Given the description of an element on the screen output the (x, y) to click on. 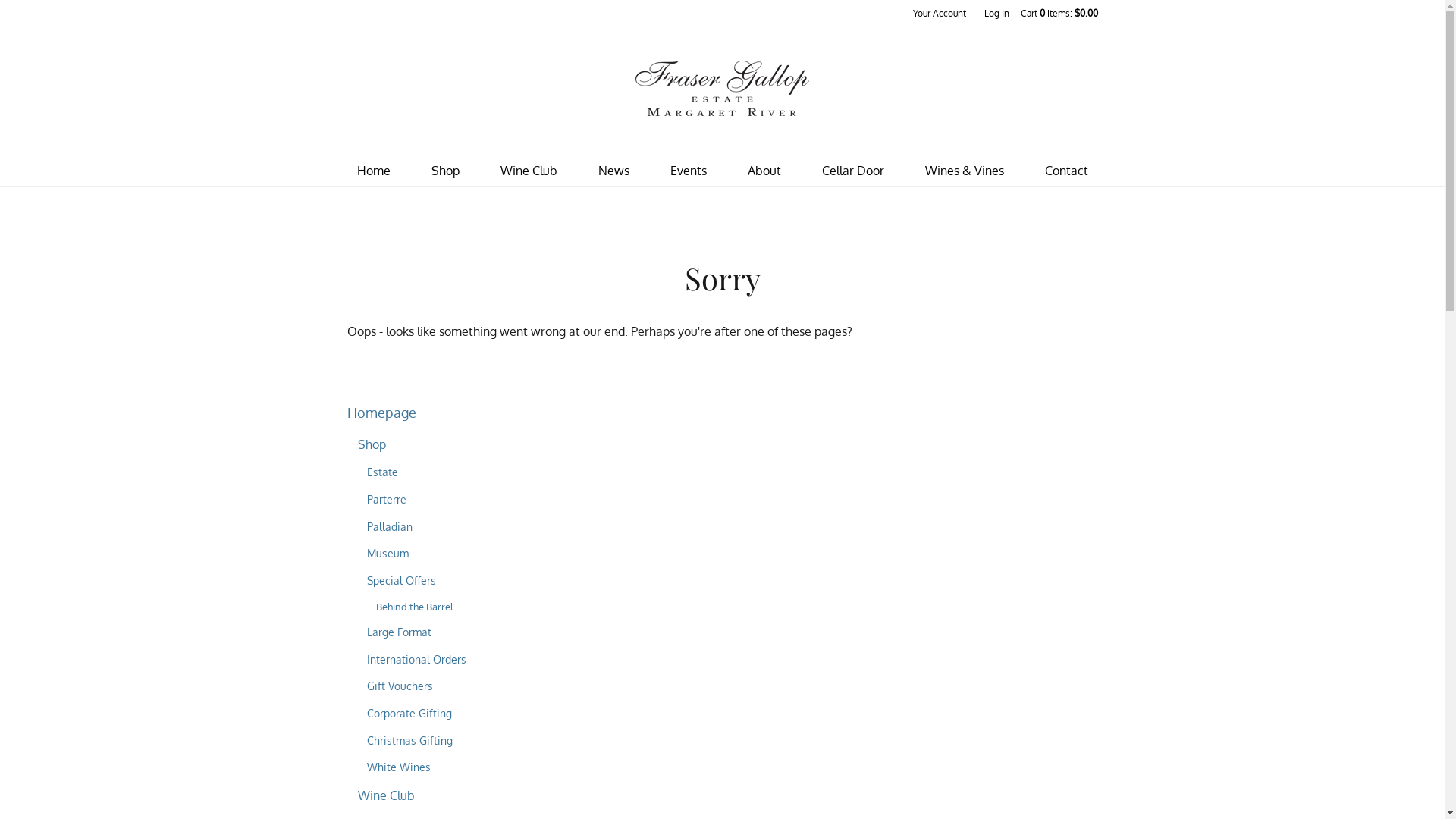
Shop Element type: text (444, 170)
Special Offers Element type: text (401, 579)
Log In Element type: text (996, 12)
Christmas Gifting Element type: text (409, 739)
Cart 0 items: $0.00 Element type: text (1059, 12)
Gift Vouchers Element type: text (400, 685)
Parterre Element type: text (386, 498)
Events Element type: text (688, 170)
Shop Element type: text (371, 443)
Large Format Element type: text (399, 631)
Cellar Door Element type: text (853, 170)
Home Element type: text (372, 170)
Museum Element type: text (387, 552)
Corporate Gifting Element type: text (409, 712)
Wine Club Element type: text (528, 170)
News Element type: text (612, 170)
Homepage Element type: text (381, 411)
Your Account Element type: text (939, 12)
White Wines Element type: text (398, 766)
International Orders Element type: text (416, 658)
About Element type: text (764, 170)
Wine Club Element type: text (385, 795)
Estate Element type: text (382, 471)
Palladian Element type: text (389, 526)
Behind the Barrel Element type: text (414, 606)
Contact Element type: text (1066, 170)
Wines & Vines Element type: text (964, 170)
Fraser Gallop Estate Element type: text (721, 87)
